Given the description of an element on the screen output the (x, y) to click on. 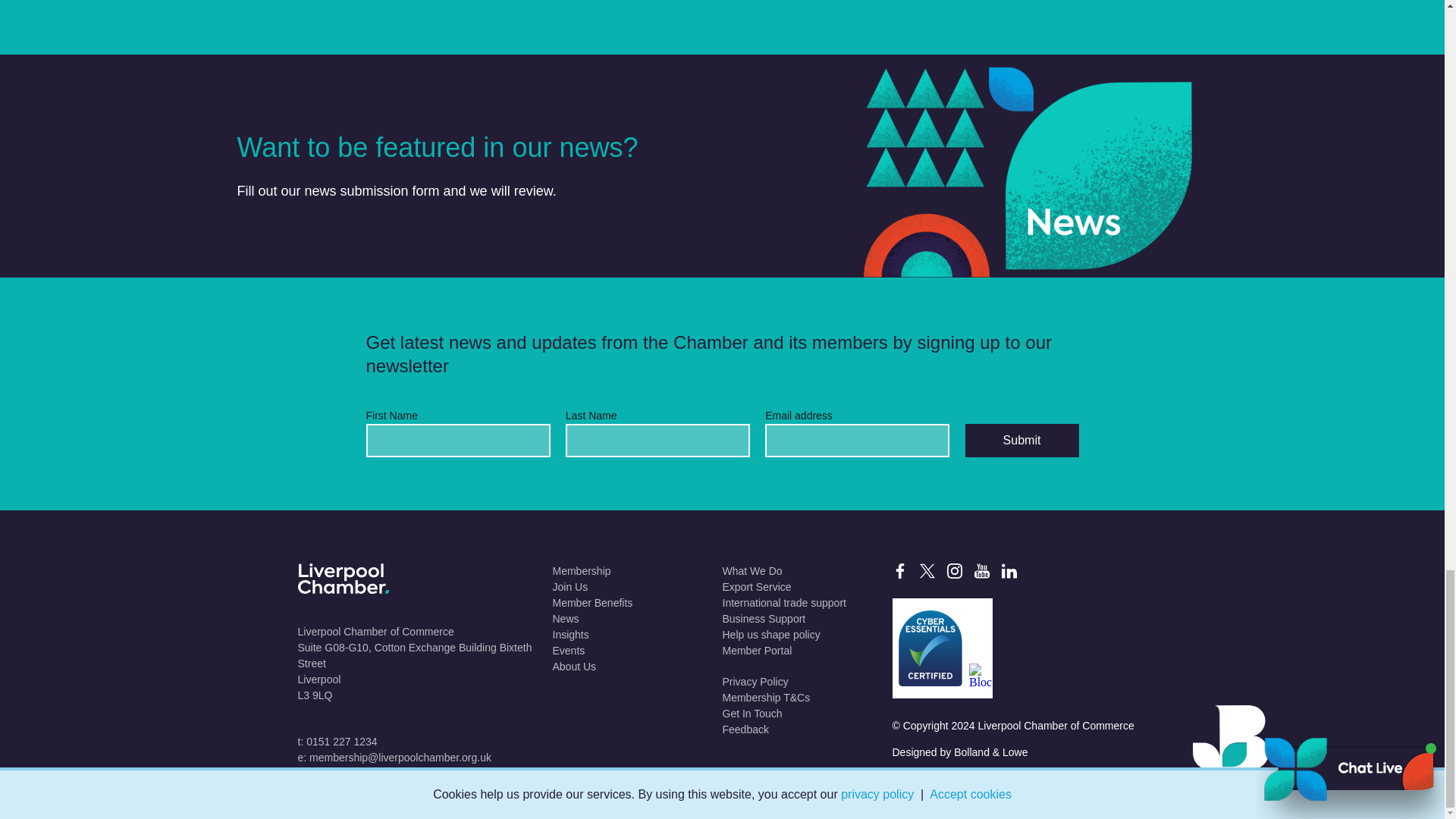
Call us on 0151 227 1234 (337, 741)
Submit (1020, 440)
